Given the description of an element on the screen output the (x, y) to click on. 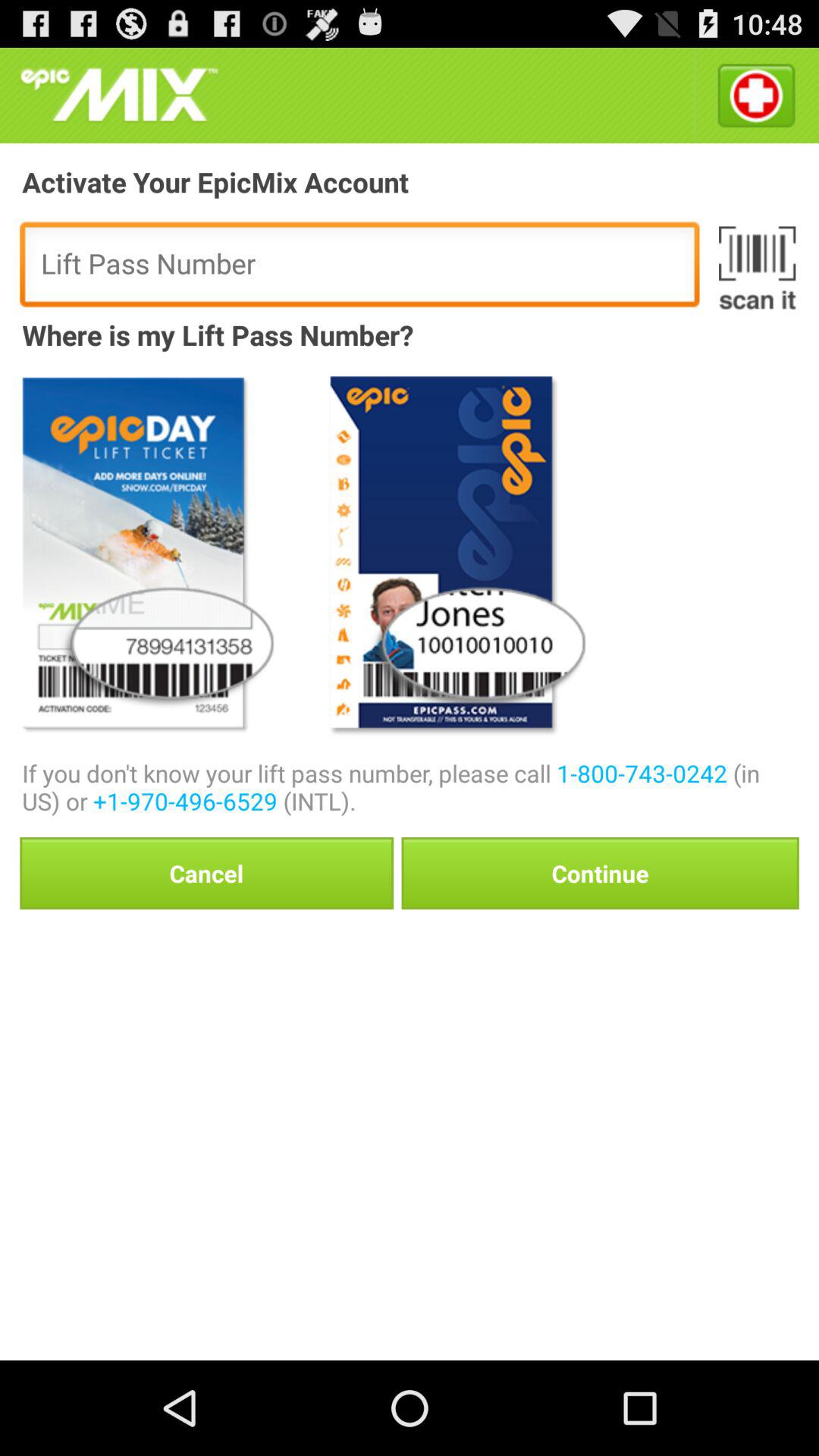
open item below the if you don item (206, 873)
